Given the description of an element on the screen output the (x, y) to click on. 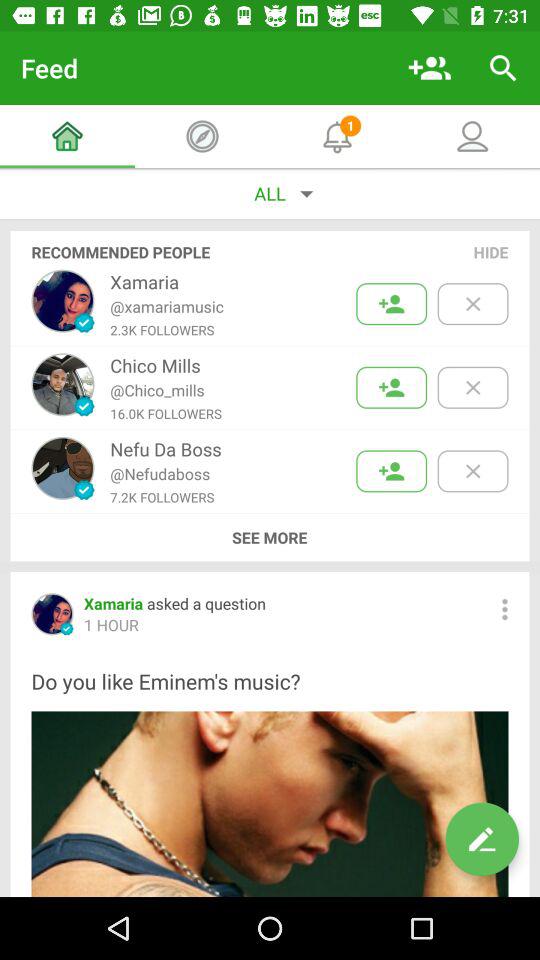
edit response (482, 839)
